Given the description of an element on the screen output the (x, y) to click on. 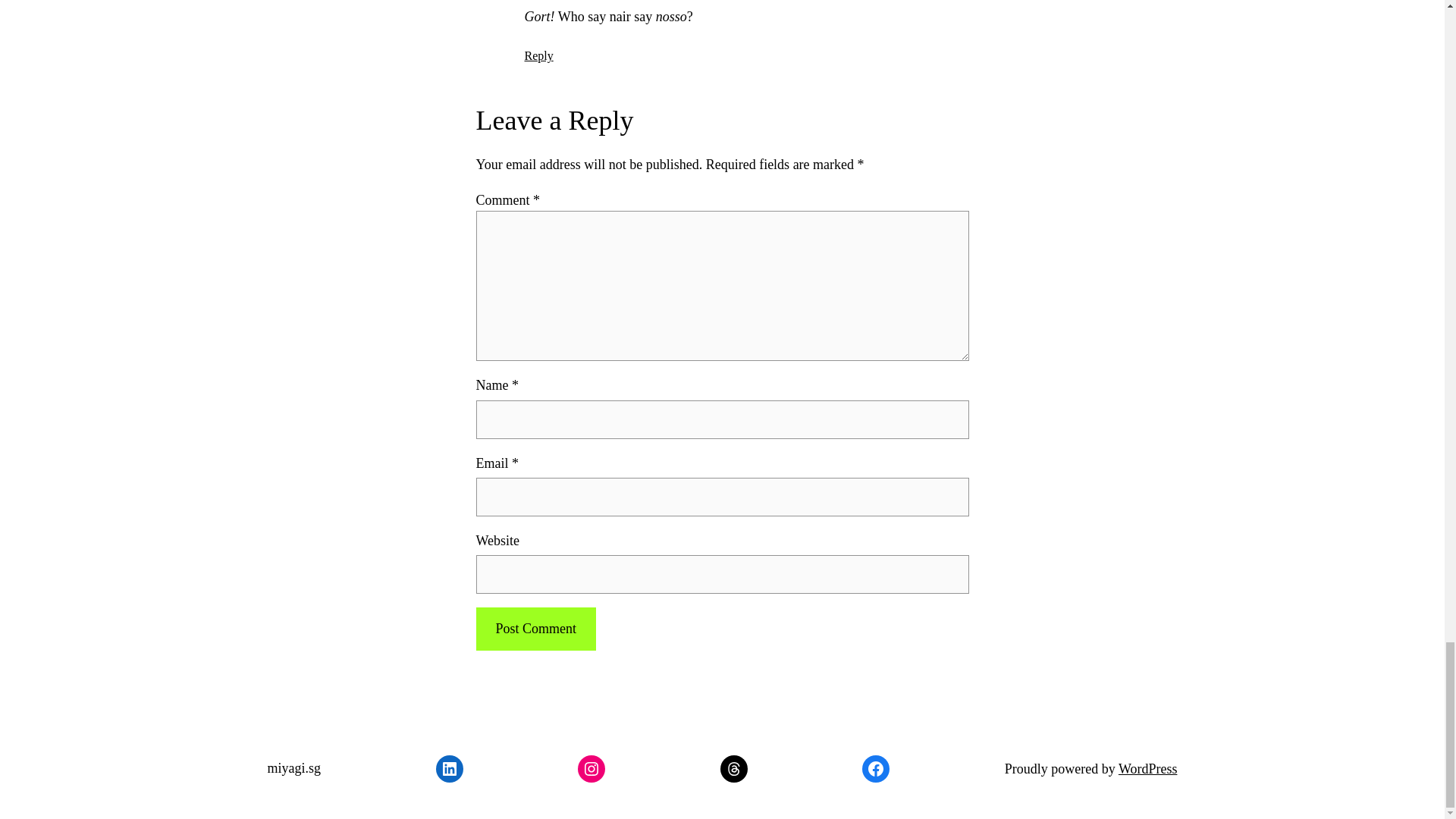
Post Comment (535, 628)
